Given the description of an element on the screen output the (x, y) to click on. 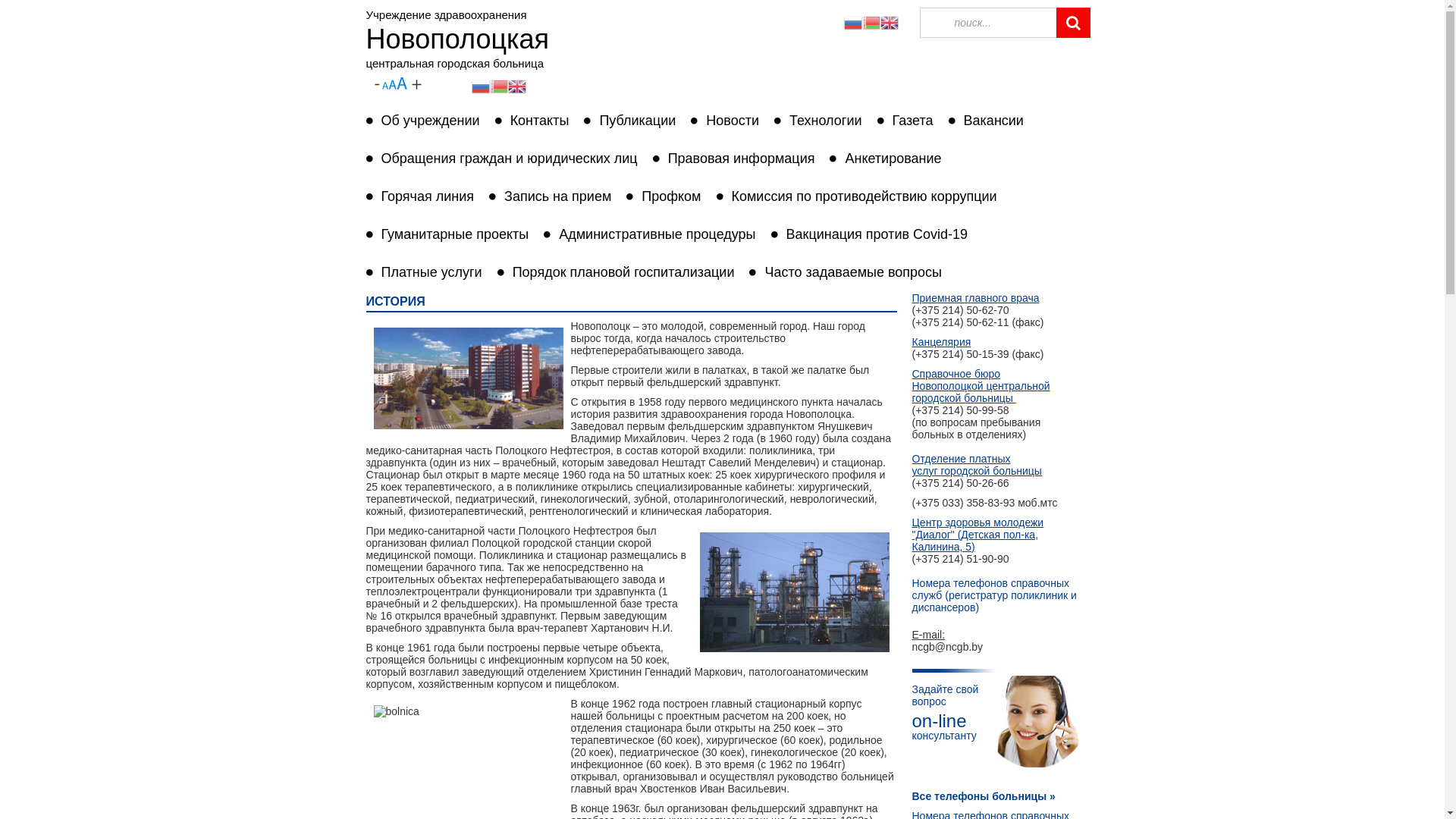
English Element type: hover (517, 85)
English Element type: hover (888, 21)
Russian Element type: hover (852, 21)
Russian Element type: hover (480, 85)
Belarusian Element type: hover (870, 21)
Belarusian Element type: hover (498, 85)
